Given the description of an element on the screen output the (x, y) to click on. 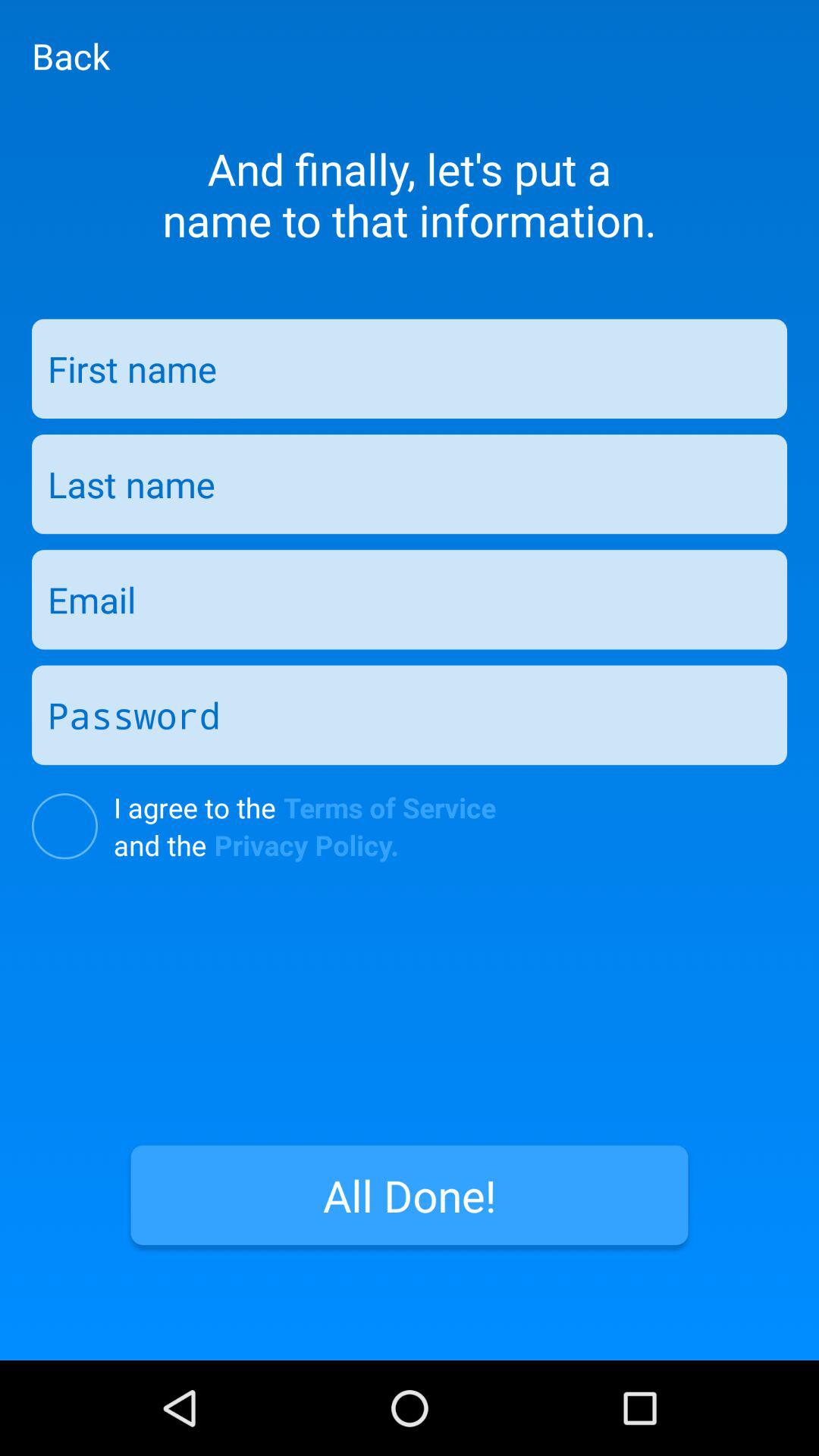
agree to terms and conditions and privacy policy (64, 826)
